Given the description of an element on the screen output the (x, y) to click on. 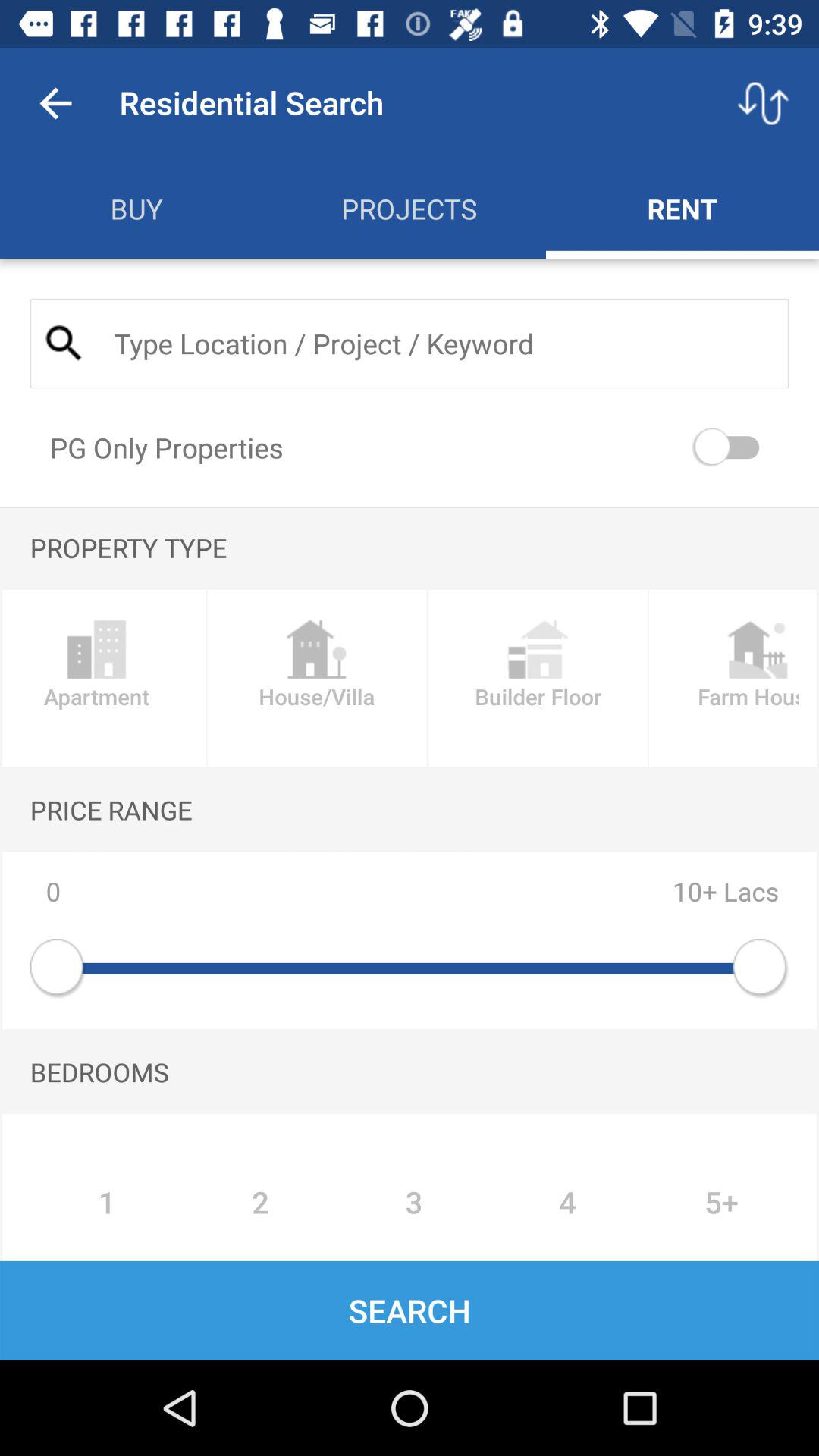
turn on (729, 447)
